Given the description of an element on the screen output the (x, y) to click on. 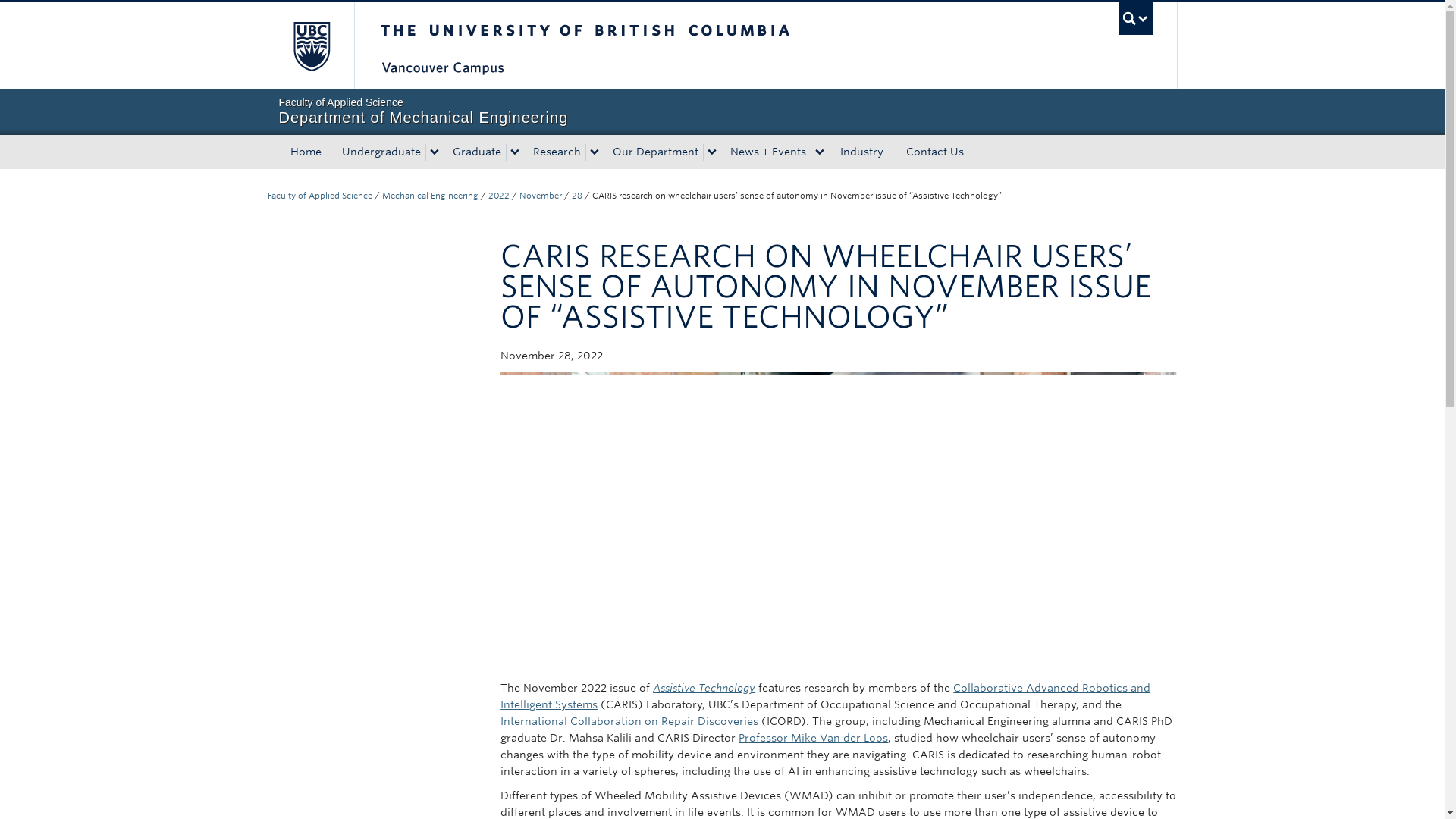
UBC Mechanical Engineering (430, 195)
Undergraduate (378, 151)
Research (553, 151)
The University of British Columbia (635, 45)
2022 (498, 195)
Graduate (473, 151)
November 2022 (539, 195)
November 28, 2022 (577, 195)
UBC Search (1135, 18)
